Given the description of an element on the screen output the (x, y) to click on. 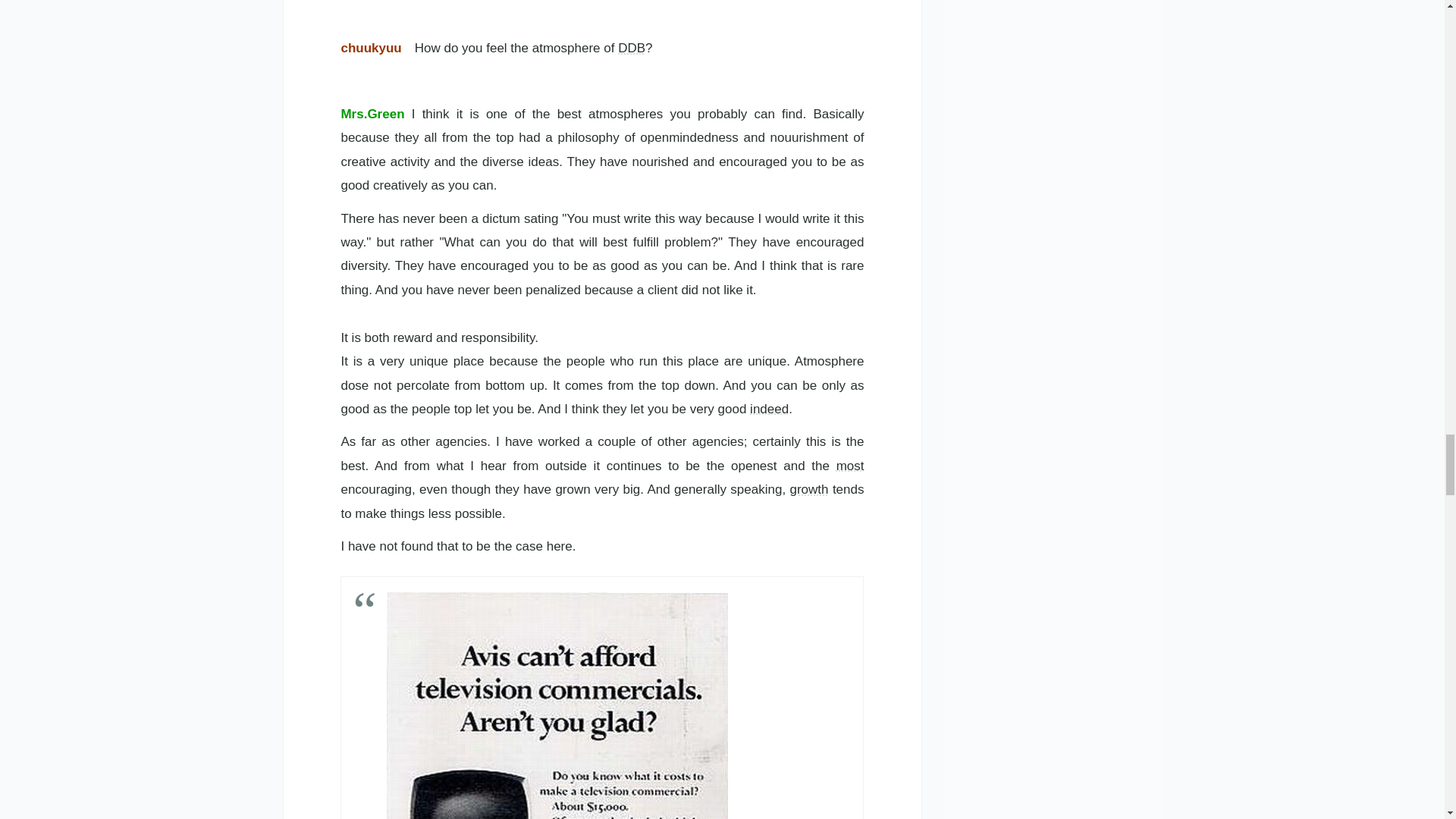
most (849, 465)
DDB (631, 47)
indeed (769, 409)
f:id:chuukyuu:20090330031038j:image (557, 705)
growth (808, 489)
